Given the description of an element on the screen output the (x, y) to click on. 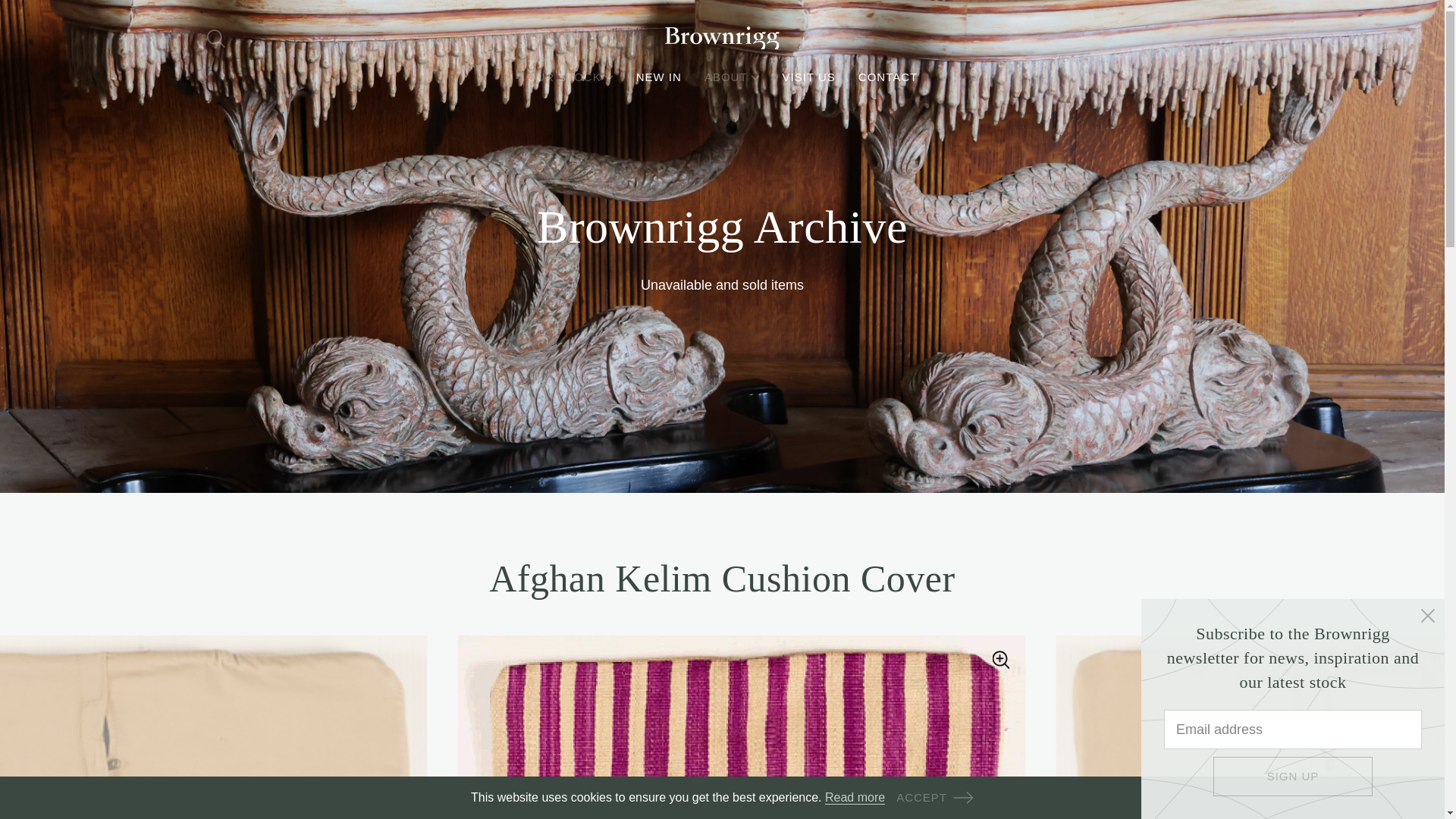
Brownrigg Interiors (720, 37)
VISIT US (809, 77)
CONTACT (888, 77)
ABOUT (732, 77)
OUR STOCK (569, 77)
NEW IN (658, 77)
